Given the description of an element on the screen output the (x, y) to click on. 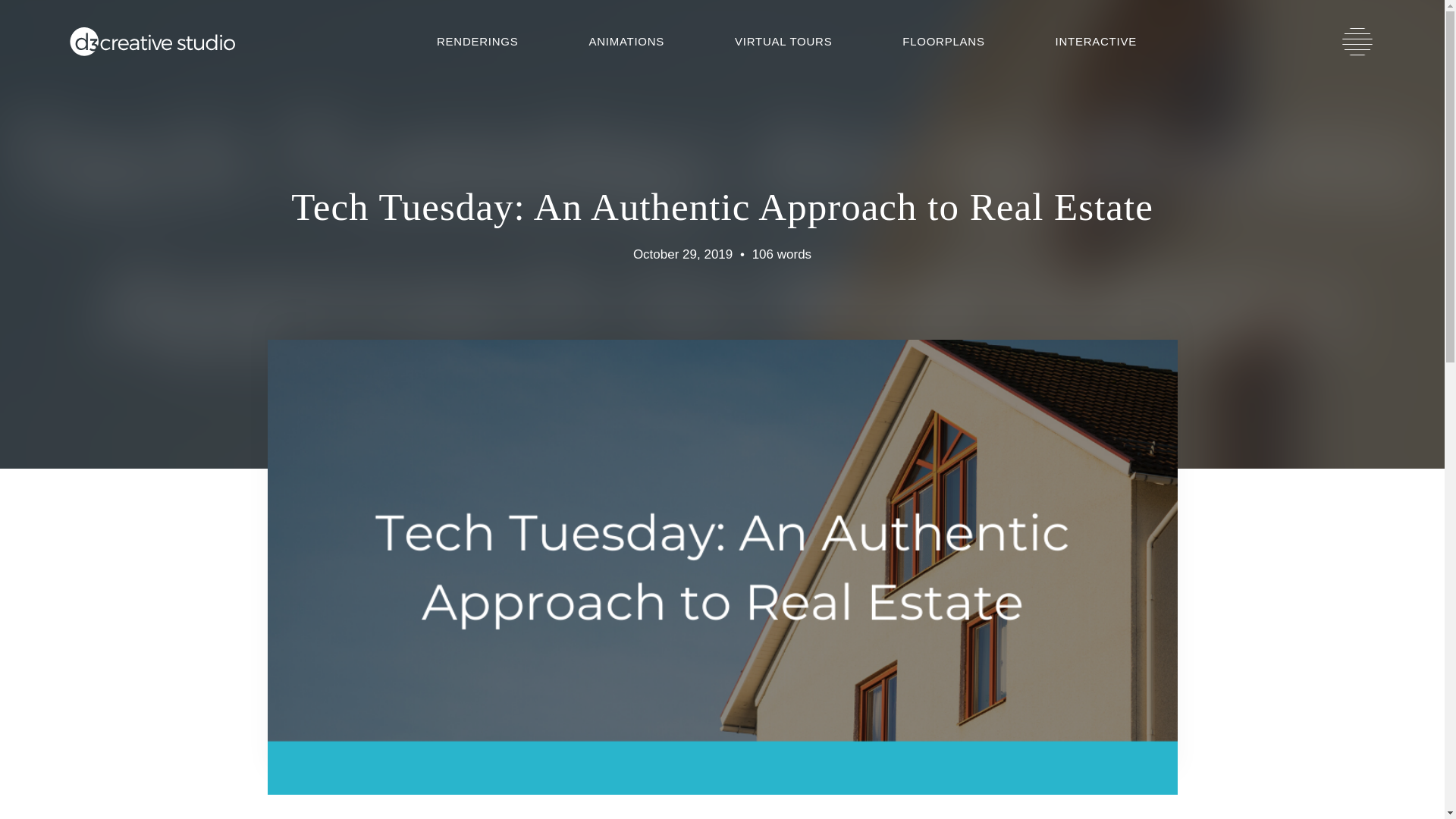
Open Menu (1356, 41)
VIRTUAL TOURS (784, 41)
RENDERINGS (477, 41)
ANIMATIONS (626, 41)
Toggle mobile menu (1356, 41)
FLOORPLANS (943, 41)
INTERACTIVE (1096, 41)
